Given the description of an element on the screen output the (x, y) to click on. 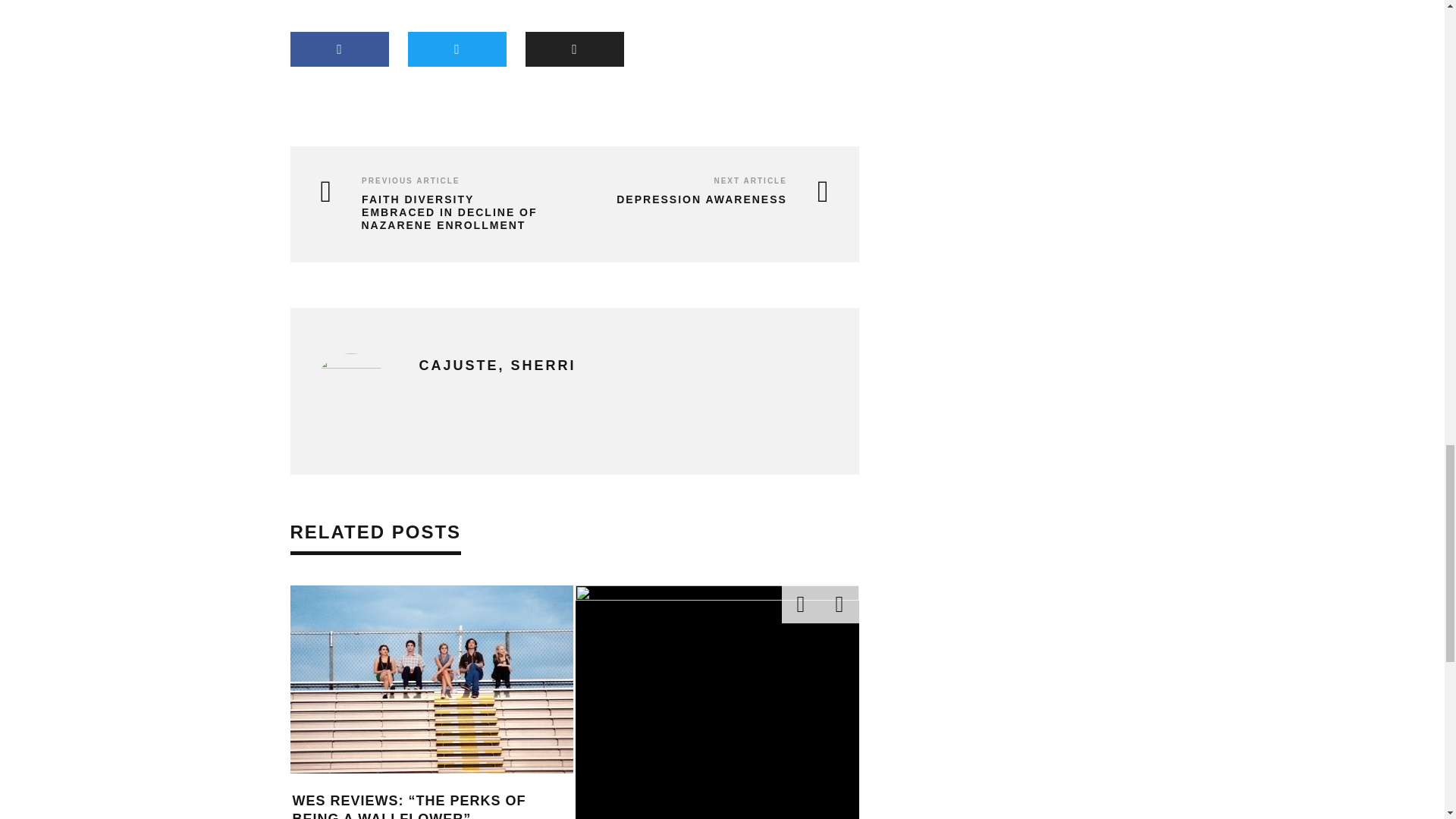
DEPRESSION AWARENESS (705, 199)
CAJUSTE, SHERRI (497, 365)
FAITH DIVERSITY EMBRACED IN DECLINE OF NAZARENE ENROLLMENT (435, 211)
PREVIOUS ARTICLE (410, 180)
NEXT ARTICLE (749, 180)
